Given the description of an element on the screen output the (x, y) to click on. 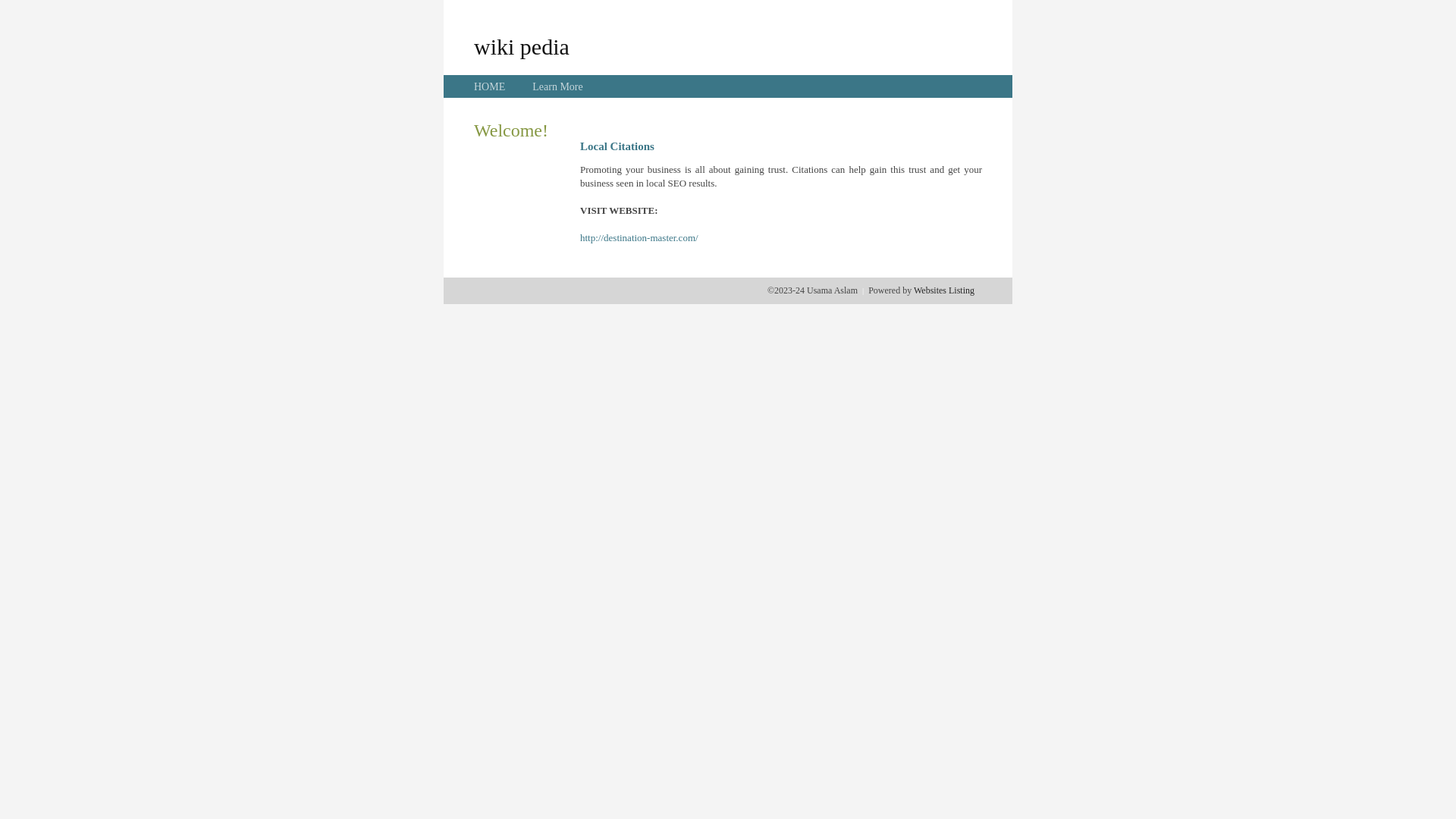
HOME Element type: text (489, 86)
Learn More Element type: text (557, 86)
wiki pedia Element type: text (521, 46)
Websites Listing Element type: text (943, 290)
http://destination-master.com/ Element type: text (639, 237)
